Given the description of an element on the screen output the (x, y) to click on. 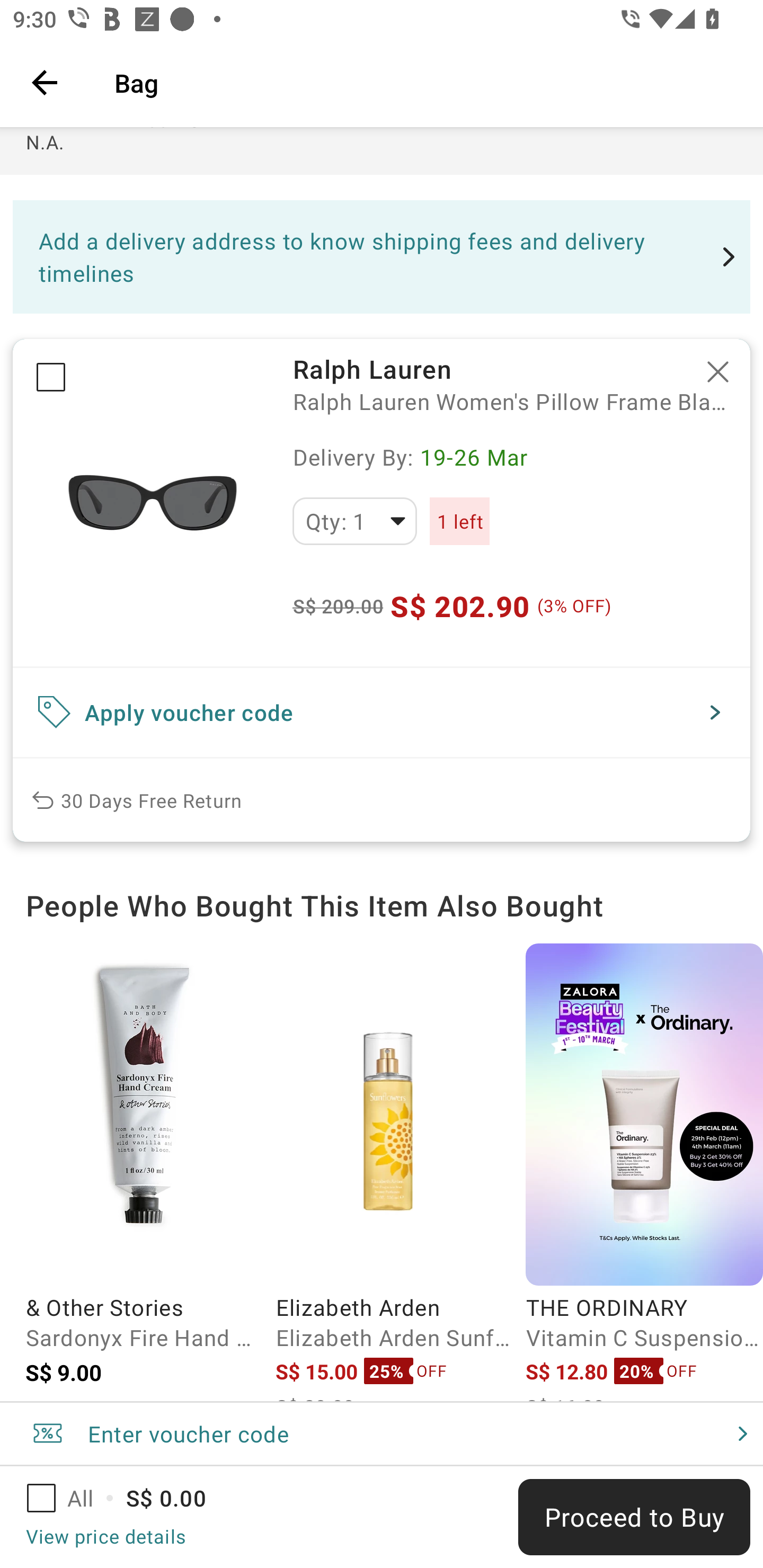
Navigate up (44, 82)
Bag (426, 82)
Qty: 1 (354, 521)
Apply voucher code (381, 712)
& Other Stories Sardonyx Fire Hand Cream S$ 9.00 (143, 1172)
Enter voucher code (381, 1433)
All (72, 1497)
Proceed to Buy (634, 1516)
View price details (105, 1535)
